Given the description of an element on the screen output the (x, y) to click on. 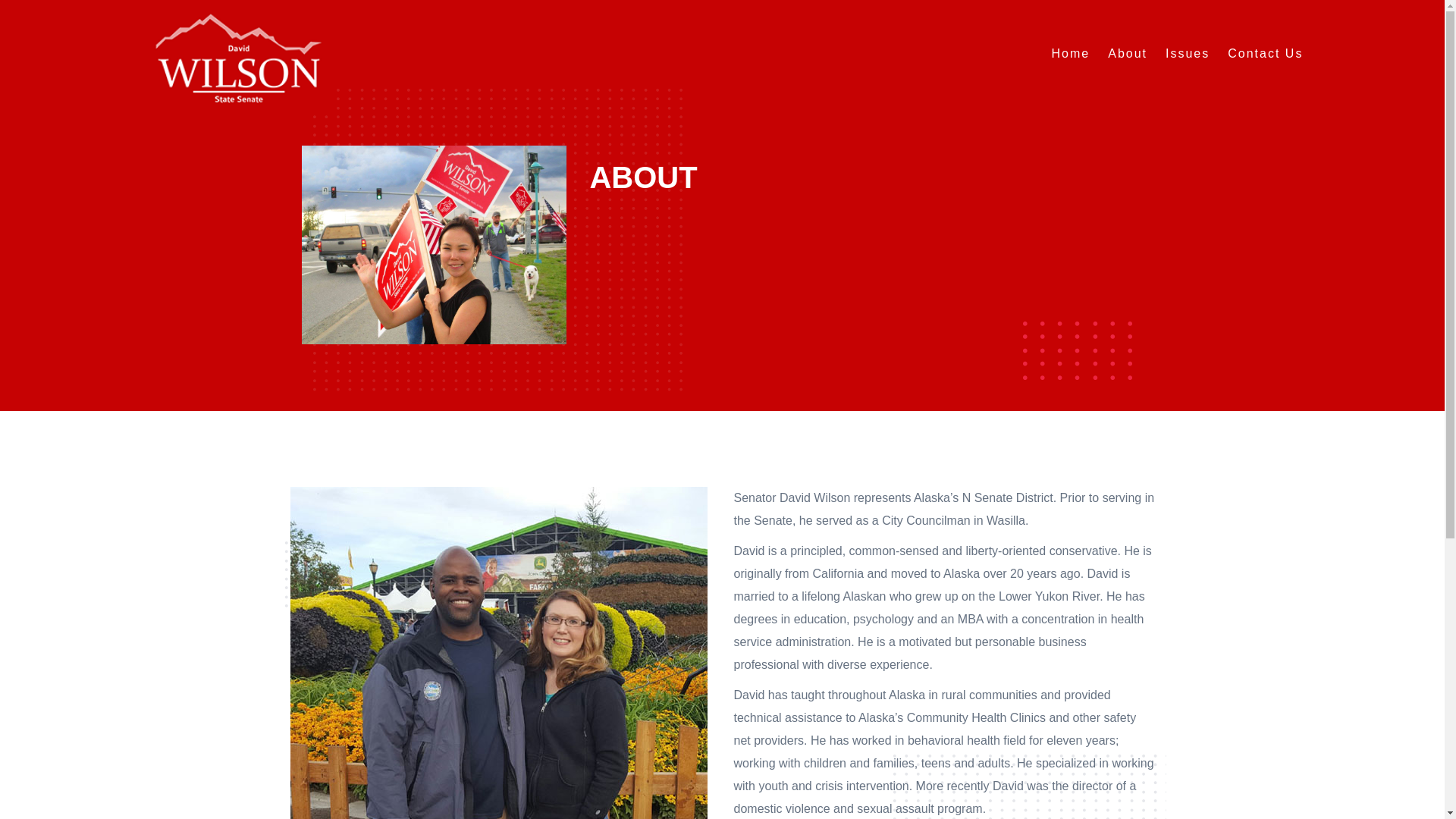
Issues (1187, 53)
About (1127, 53)
Home (1070, 53)
Contact Us (1264, 53)
